Given the description of an element on the screen output the (x, y) to click on. 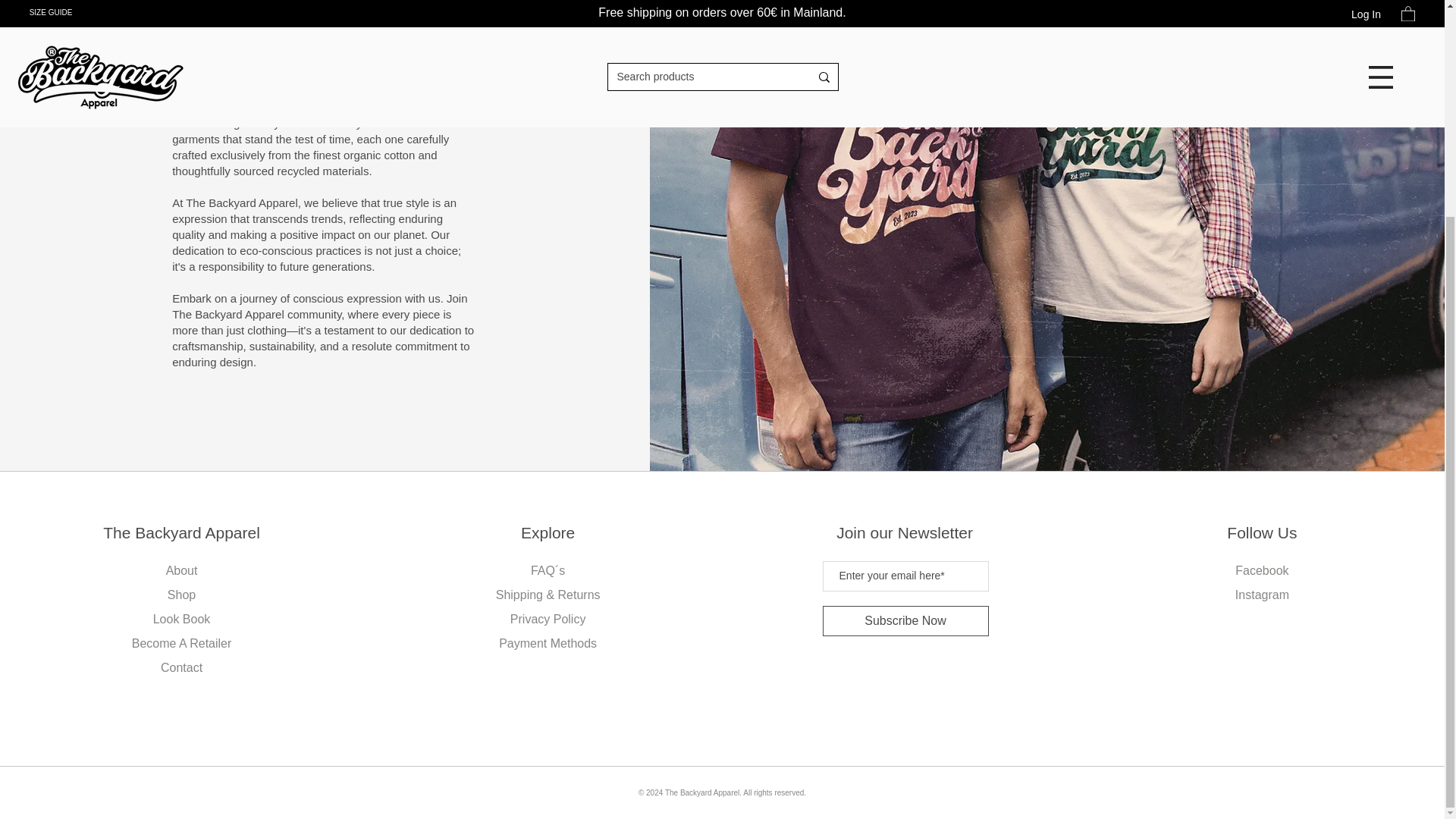
Facebook (1261, 570)
About (181, 570)
Subscribe Now (905, 621)
Payment Methods (547, 643)
Privacy Policy (548, 618)
Contact (181, 667)
Look Book (181, 618)
Instagram (1261, 594)
Become A Retailer (181, 643)
Shop (181, 594)
